Given the description of an element on the screen output the (x, y) to click on. 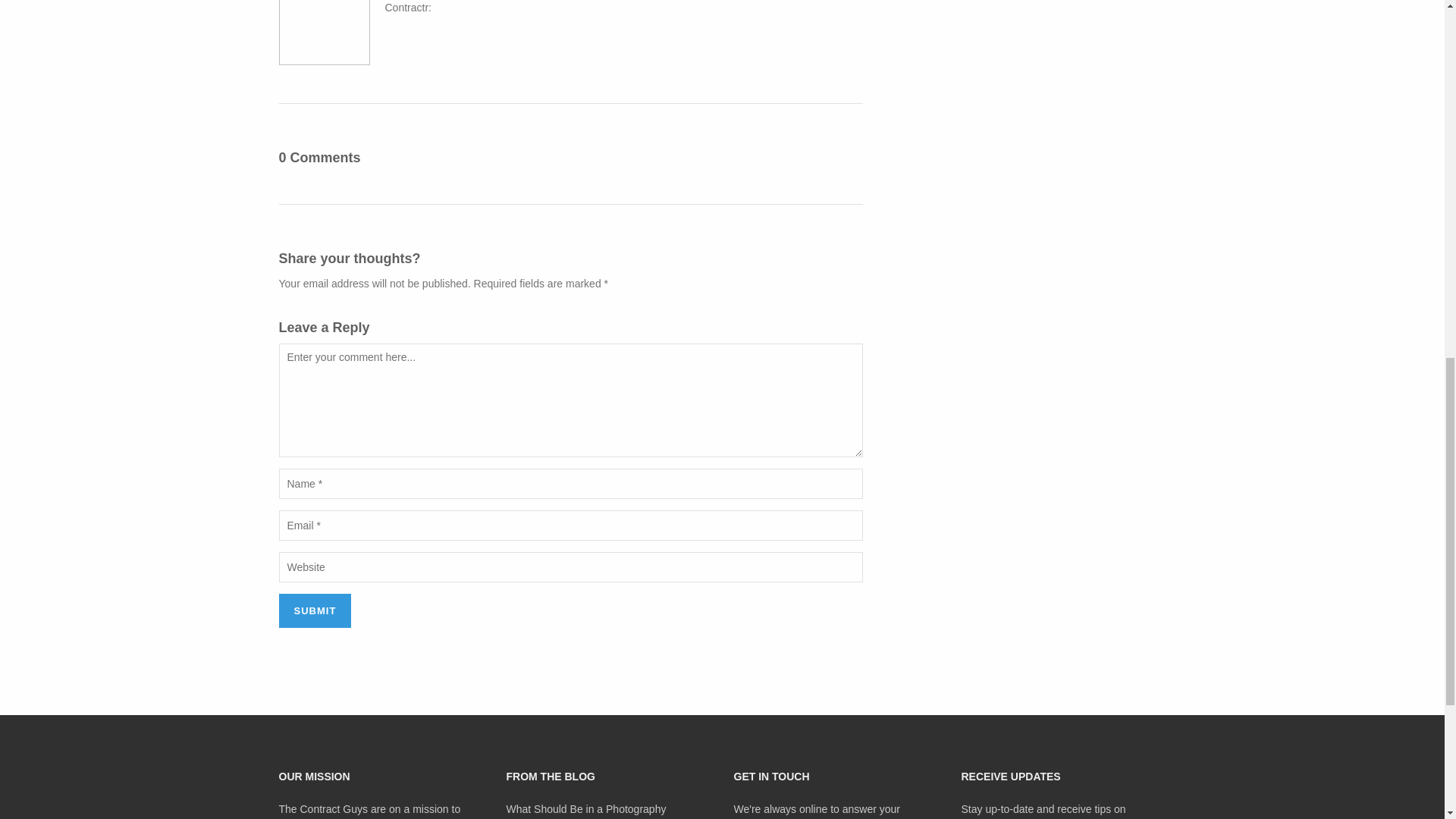
Submit (315, 610)
What Should Be in a Photography Contract? (586, 811)
Submit (315, 610)
